Given the description of an element on the screen output the (x, y) to click on. 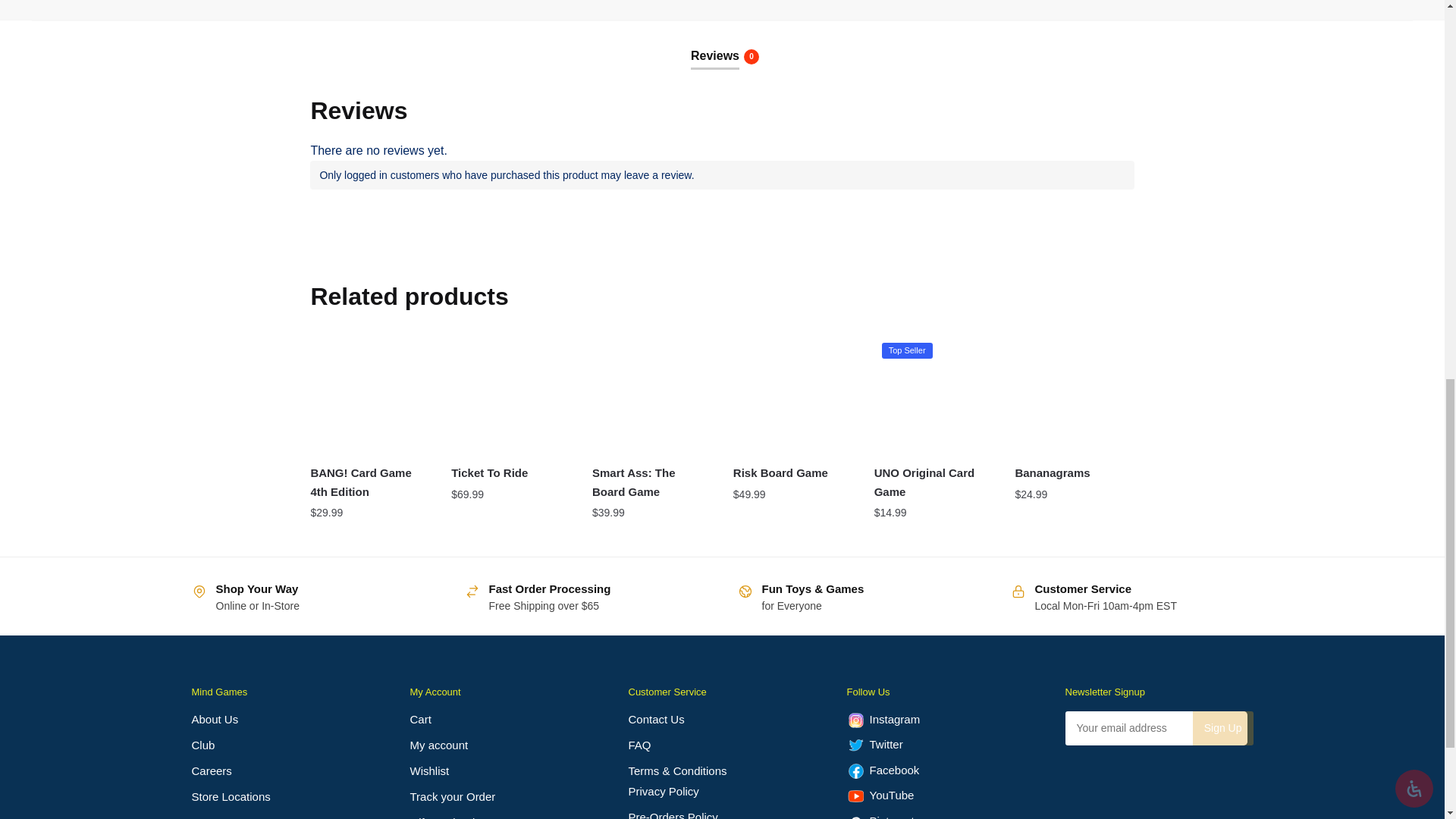
Risk Board Game (792, 393)
Ticket To Ride (510, 393)
Sign up (1222, 728)
UNO Original Card Game (933, 393)
BANG! Card Game 4th Edition (369, 393)
Smart Ass: The Board Game (651, 393)
